Given the description of an element on the screen output the (x, y) to click on. 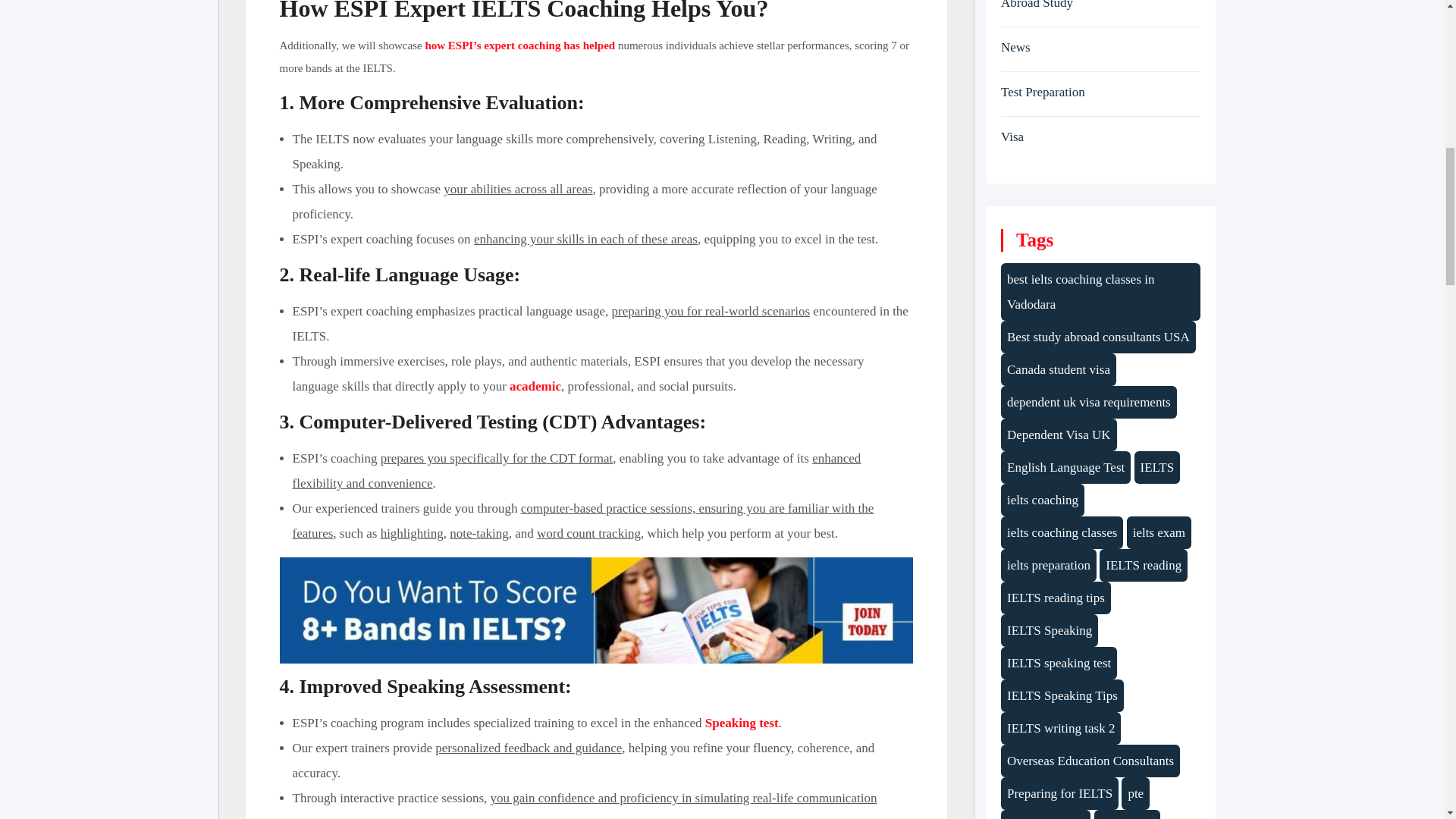
Search Now! (1016, 148)
academic (534, 386)
